Given the description of an element on the screen output the (x, y) to click on. 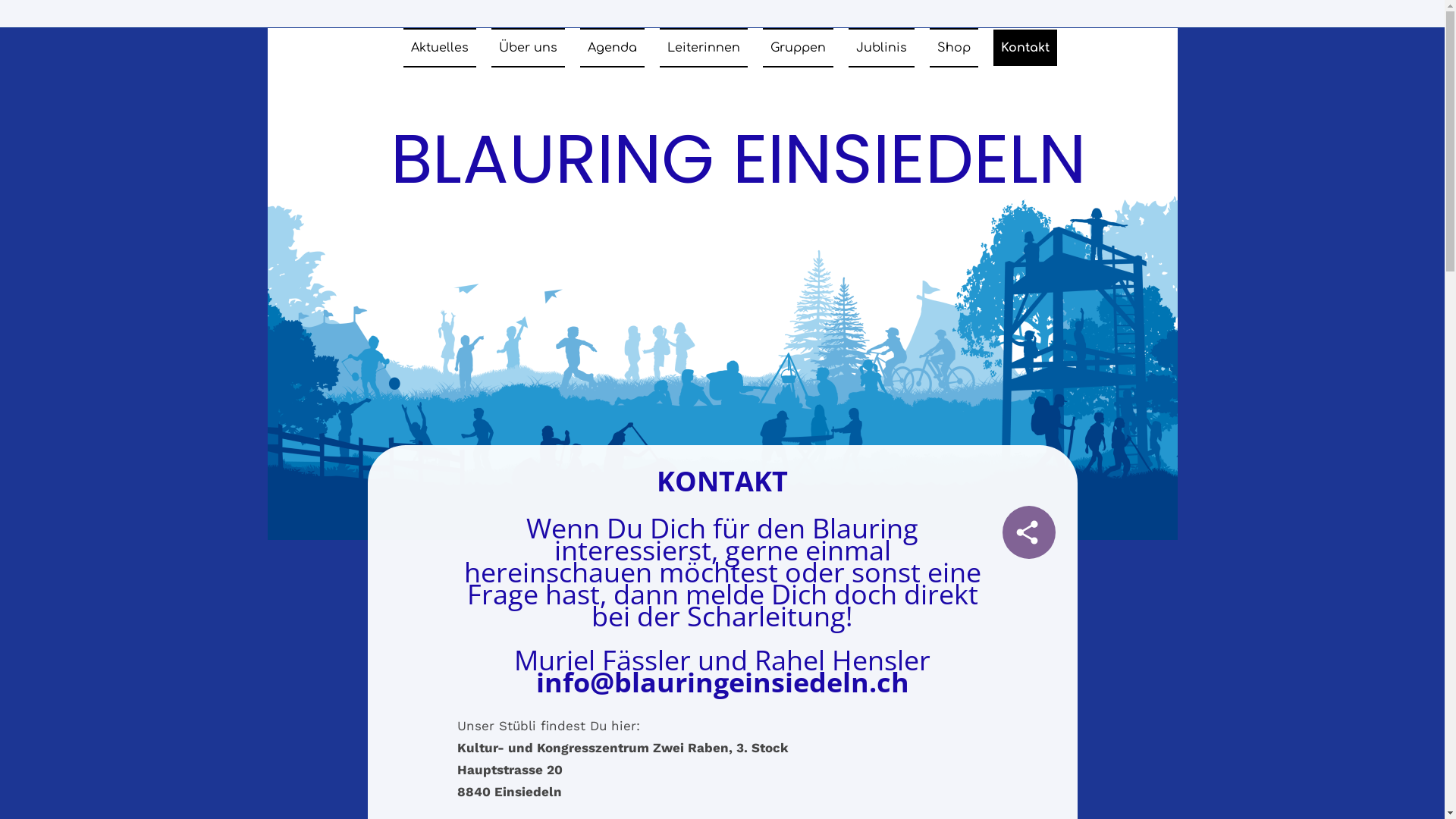
Shop Element type: text (953, 47)
Jublinis Element type: text (880, 47)
Aktuelles Element type: text (439, 47)
Leiterinnen Element type: text (703, 47)
Agenda Element type: text (611, 47)
Kontakt Element type: text (1025, 47)
Gruppen Element type: text (797, 47)
